Given the description of an element on the screen output the (x, y) to click on. 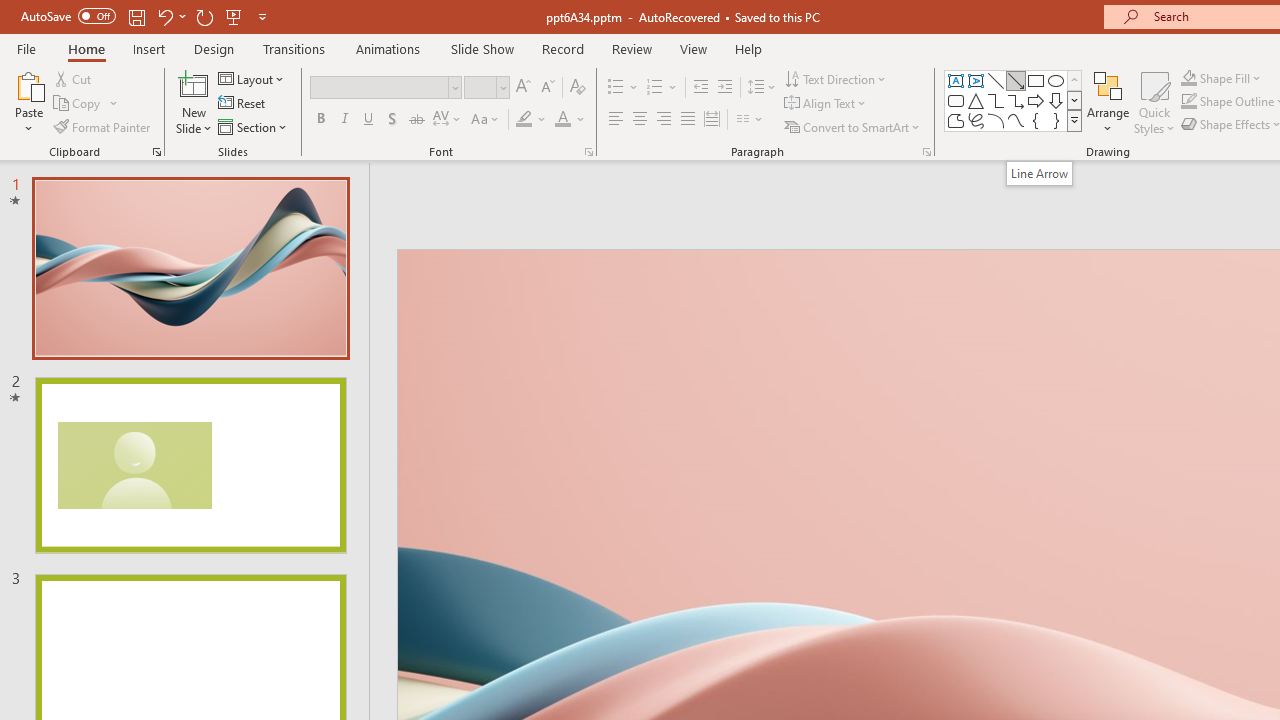
AutomationID: ShapesInsertGallery (1014, 100)
Paragraph... (926, 151)
Convert to SmartArt (853, 126)
Shape Fill (1221, 78)
Character Spacing (447, 119)
Isosceles Triangle (975, 100)
Connector: Elbow Arrow (1016, 100)
Text Box (955, 80)
Font (385, 87)
Copy (78, 103)
